Given the description of an element on the screen output the (x, y) to click on. 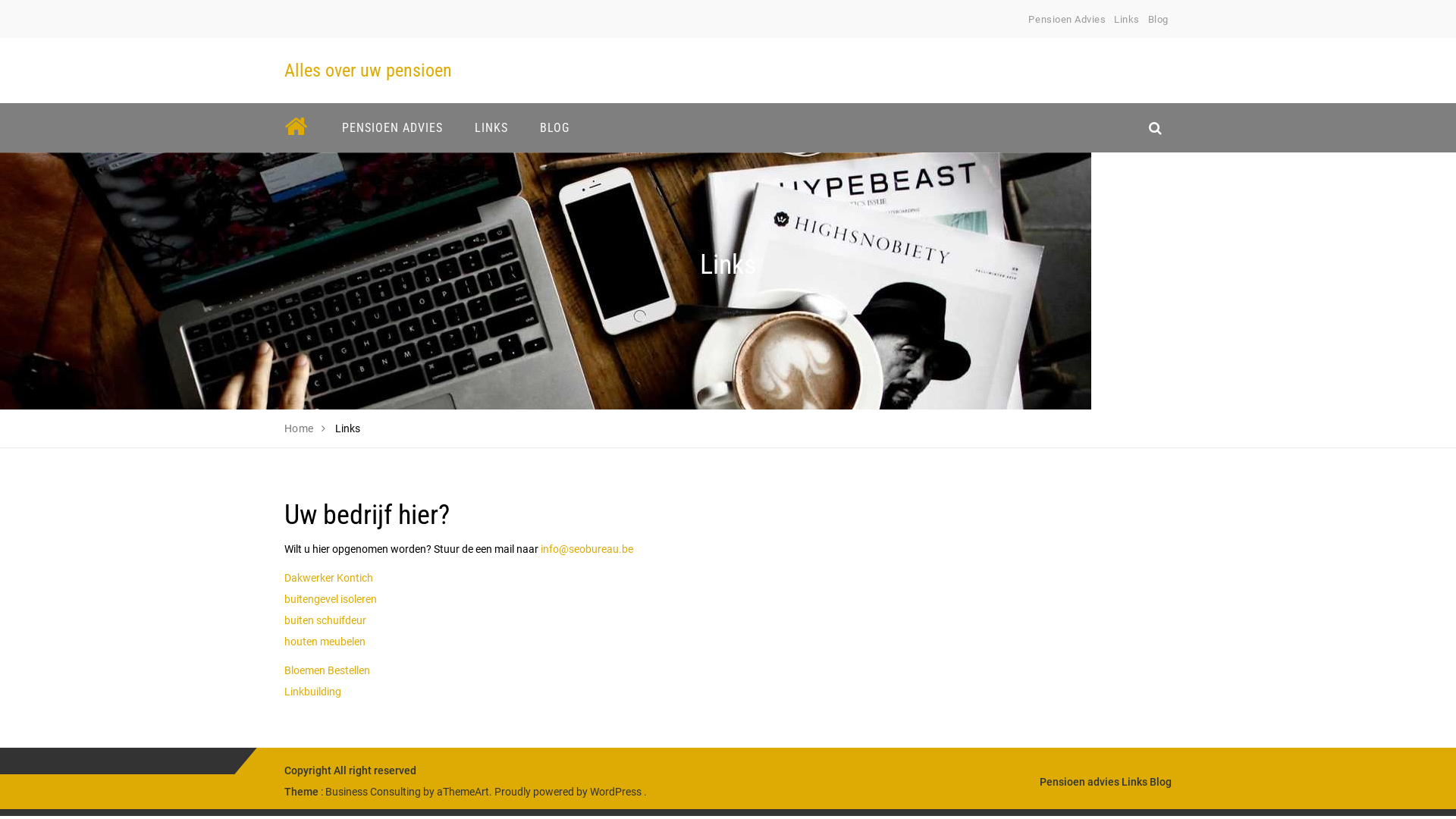
buitengevel isoleren Element type: text (330, 599)
LINKS Element type: text (490, 127)
buiten schuifdeur Element type: text (325, 620)
PENSIOEN ADVIES Element type: text (392, 127)
Bloemen Bestellen Element type: text (327, 670)
Pensioen advies Element type: text (1079, 781)
info@seobureau.be Element type: text (586, 548)
Dakwerker Kontich Element type: text (328, 577)
Home Element type: text (298, 428)
Links Element type: text (1134, 781)
Blog Element type: text (1158, 19)
BLOG Element type: text (554, 127)
Theme Element type: text (301, 791)
search_icon Element type: hover (1155, 127)
Pensioen Advies Element type: text (1066, 19)
houten meubelen Element type: text (324, 641)
Blog Element type: text (1160, 781)
Links Element type: text (1126, 19)
Linkbuilding Element type: text (312, 691)
Alles over uw pensioen Element type: text (367, 70)
